Given the description of an element on the screen output the (x, y) to click on. 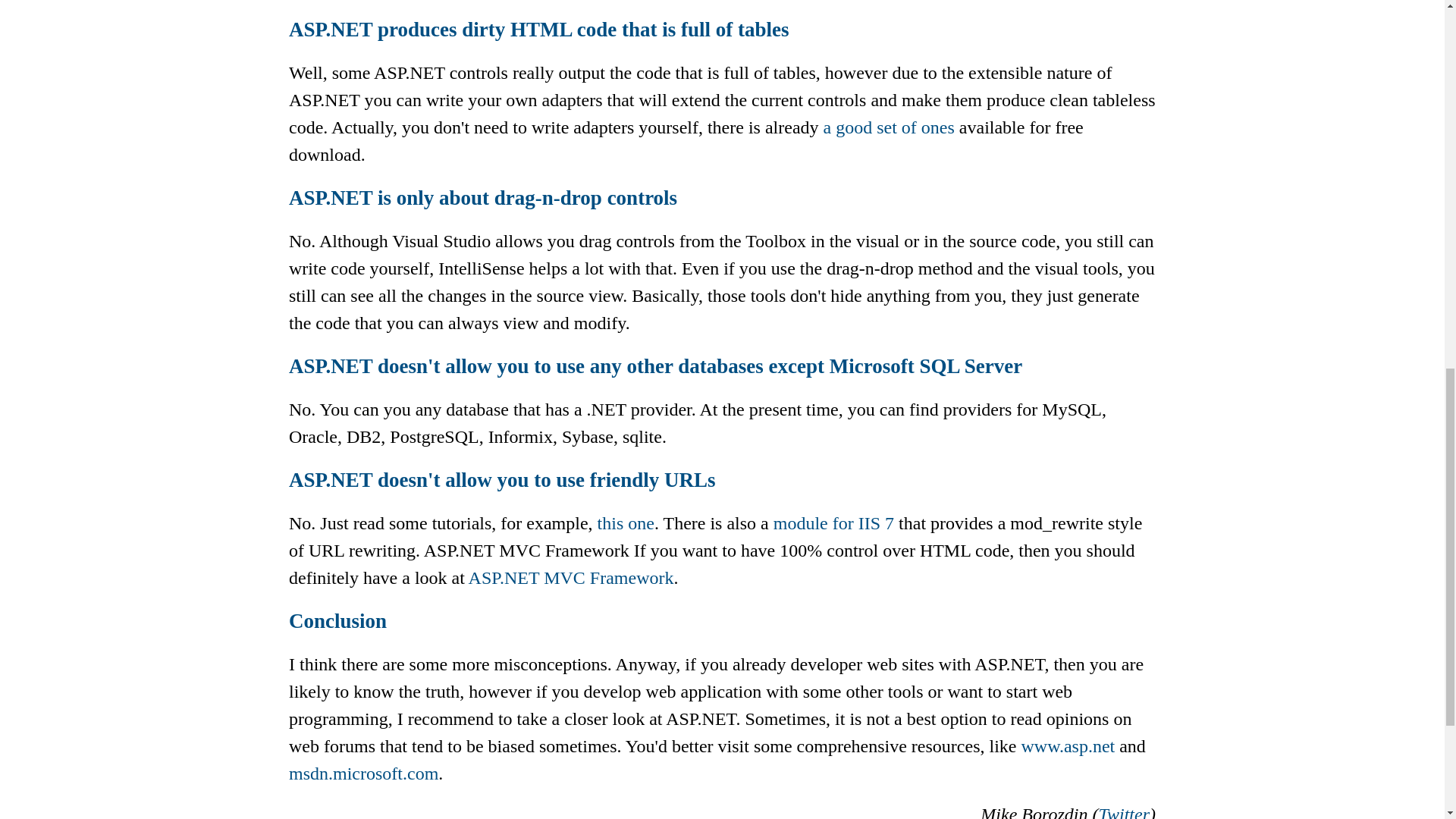
msdn.microsoft.com (363, 772)
this one (624, 523)
Twitter (1123, 811)
module for IIS 7 (833, 523)
www.asp.net (1067, 745)
ASP.NET MVC Framework (571, 578)
a good set of ones (889, 127)
